Given the description of an element on the screen output the (x, y) to click on. 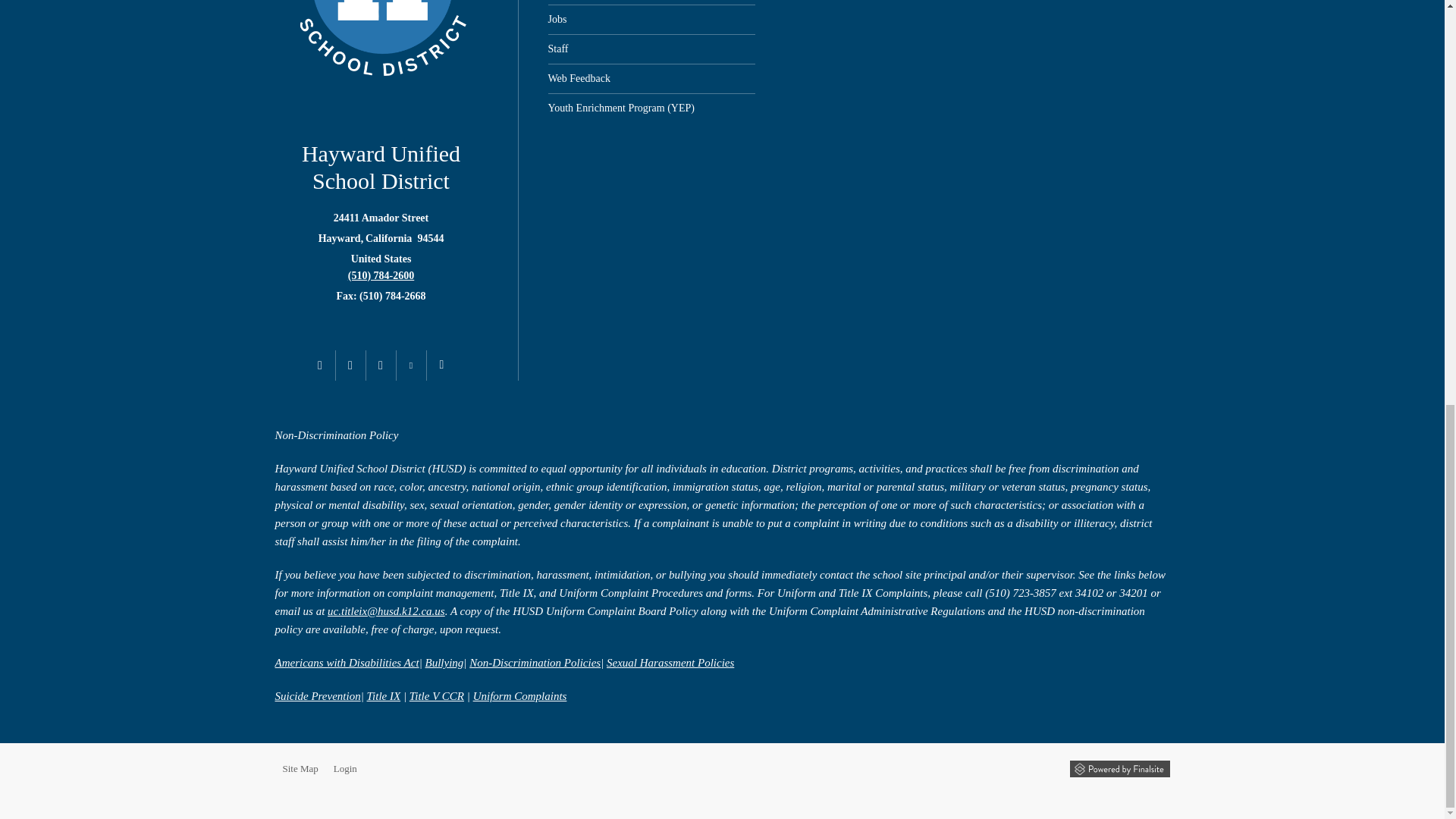
Title IX Complaints (383, 695)
Powered by Finalsite opens in a new window (1118, 768)
Uniform Complaints (520, 695)
